Given the description of an element on the screen output the (x, y) to click on. 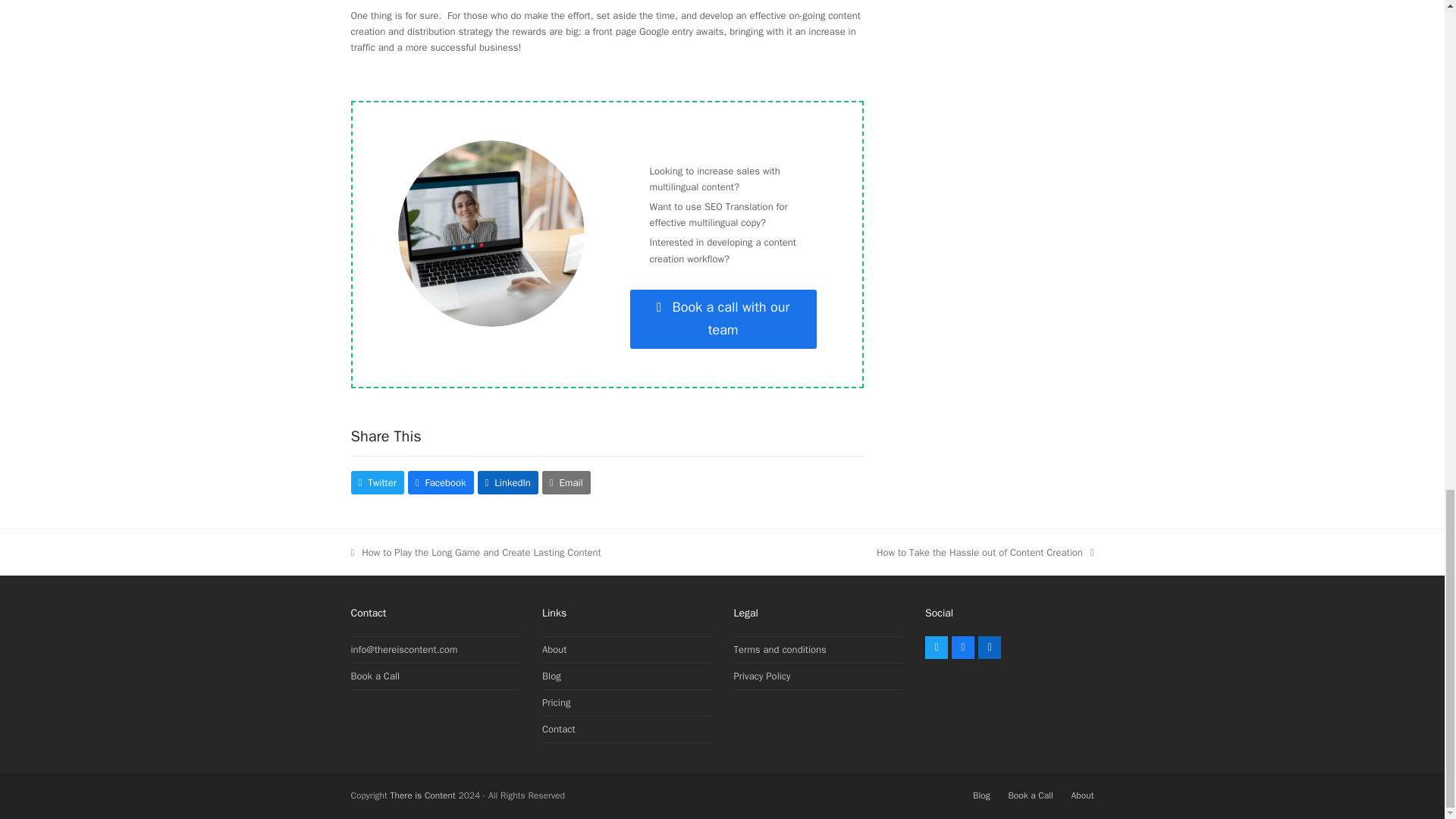
LinkedIn (507, 482)
Book a call with our team (723, 319)
About (553, 649)
Facebook (963, 647)
Contact (985, 552)
Twitter (558, 728)
Email (935, 647)
Twitter (566, 482)
Book a Call (376, 482)
